Given the description of an element on the screen output the (x, y) to click on. 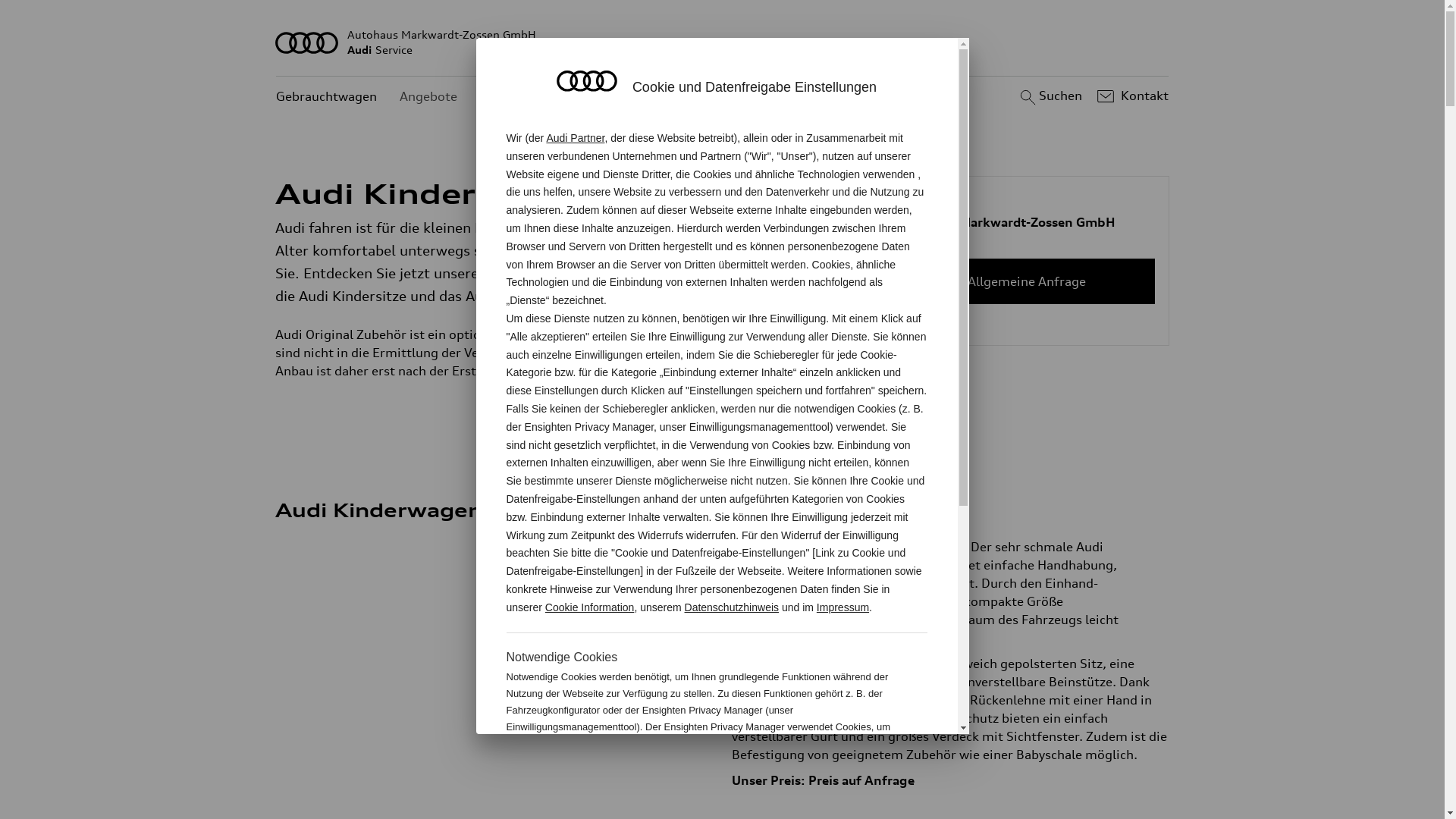
Datenschutzhinweis Element type: text (731, 607)
Gebrauchtwagen Element type: text (326, 96)
Kundenservice Element type: text (523, 96)
Suchen Element type: text (1049, 96)
Allgemeine Anfrage Element type: text (1025, 281)
Cookie Information Element type: text (589, 607)
Preis auf Anfrage Element type: text (861, 780)
Angebote Element type: text (428, 96)
Kontakt Element type: text (1130, 96)
Autohaus Markwardt-Zossen GmbH
AudiService Element type: text (722, 42)
Cookie Information Element type: text (847, 776)
Audi Partner Element type: text (575, 137)
Impressum Element type: text (842, 607)
